Given the description of an element on the screen output the (x, y) to click on. 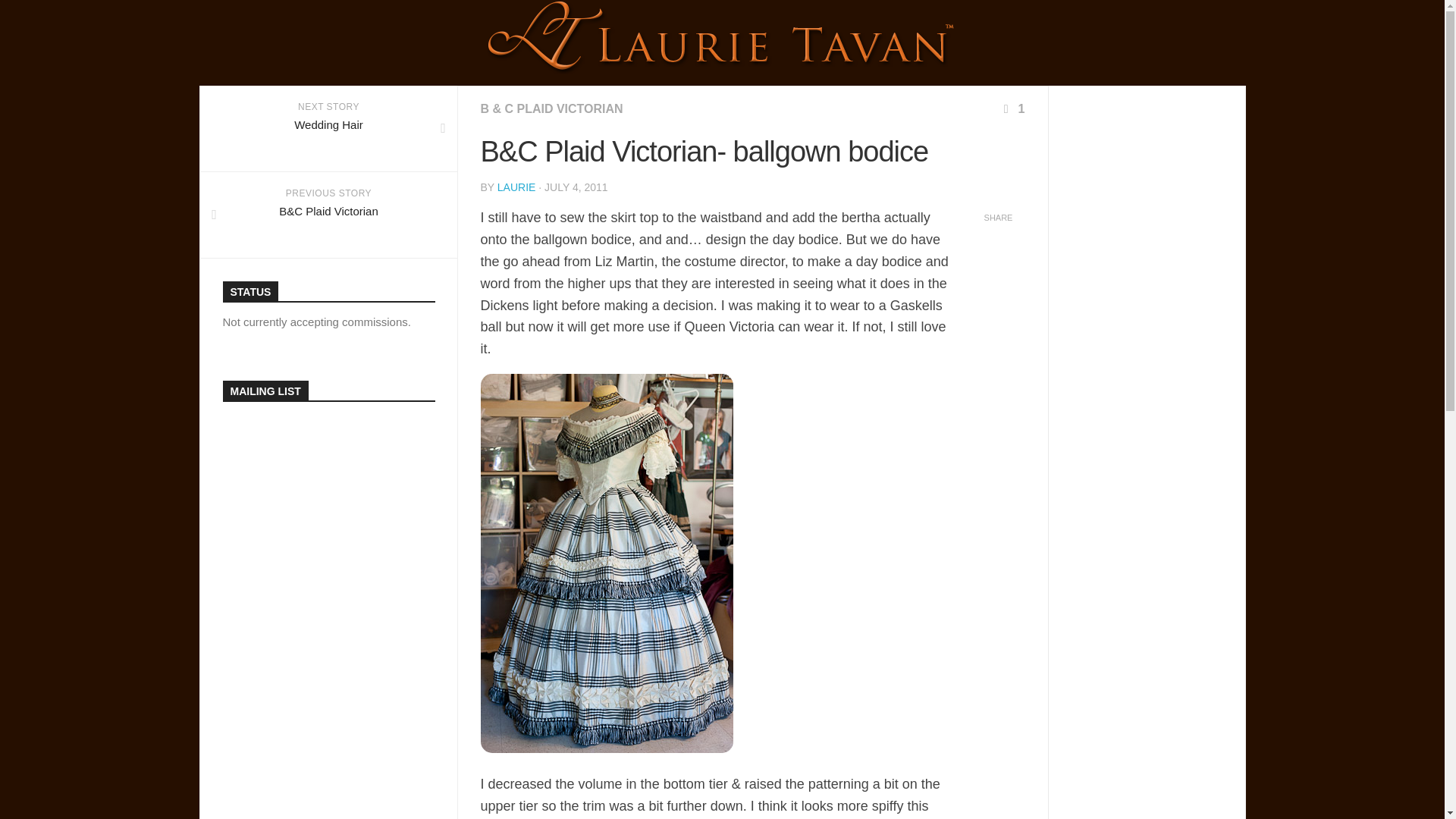
Posts by laurie (329, 128)
LAURIE (516, 186)
1 (516, 186)
